Given the description of an element on the screen output the (x, y) to click on. 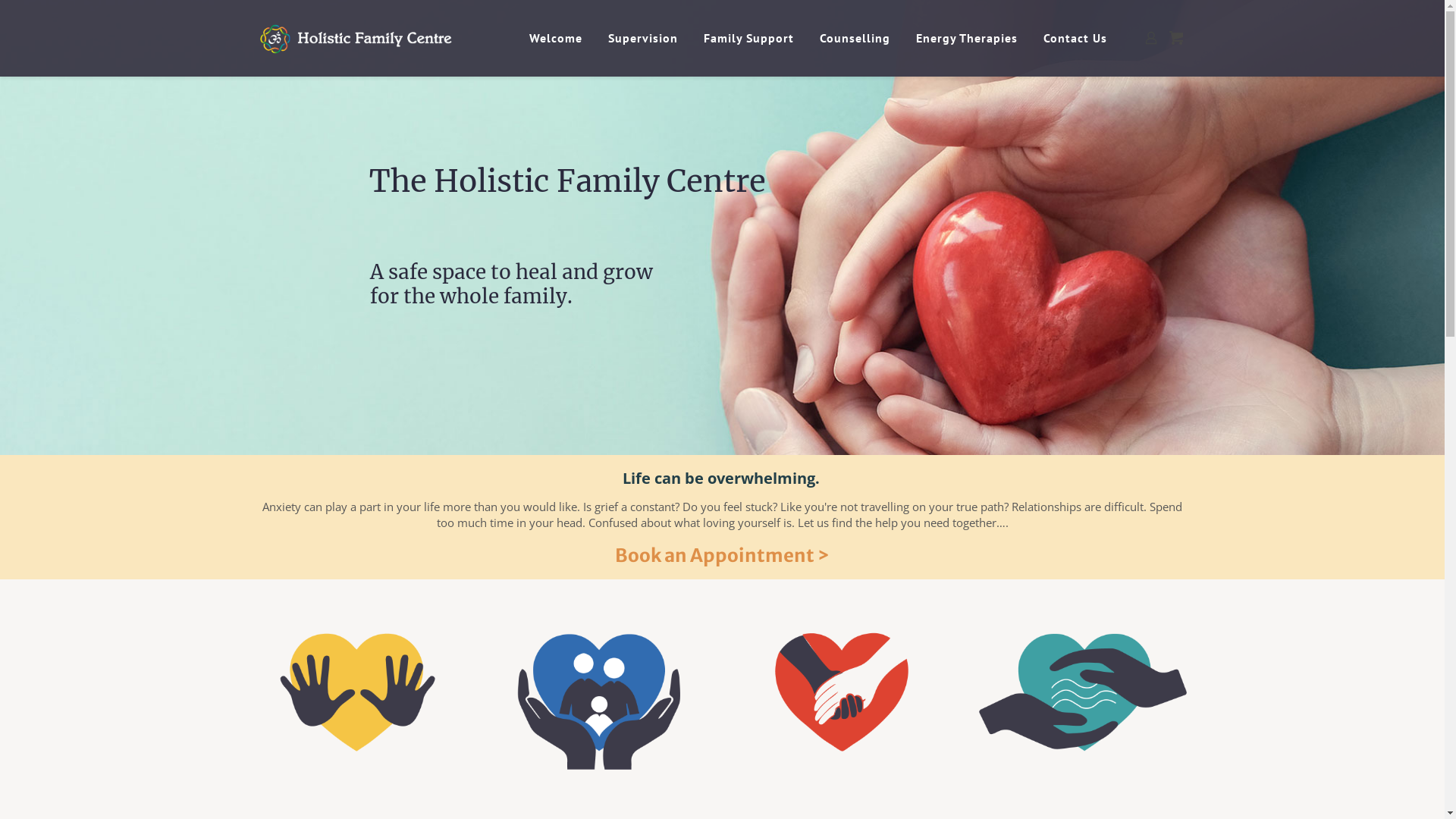
Family Support Element type: text (750, 37)
Welcome Element type: text (558, 37)
Energy Therapies Element type: text (968, 37)
Holistic Family Centre Element type: hover (380, 37)
Contact Us Element type: text (1077, 37)
A safe space to heal and grow
for the whole family. Element type: text (511, 296)
Counselling Element type: text (856, 37)
Supervision Element type: text (645, 37)
Book an Appointment > Element type: text (722, 555)
